Given the description of an element on the screen output the (x, y) to click on. 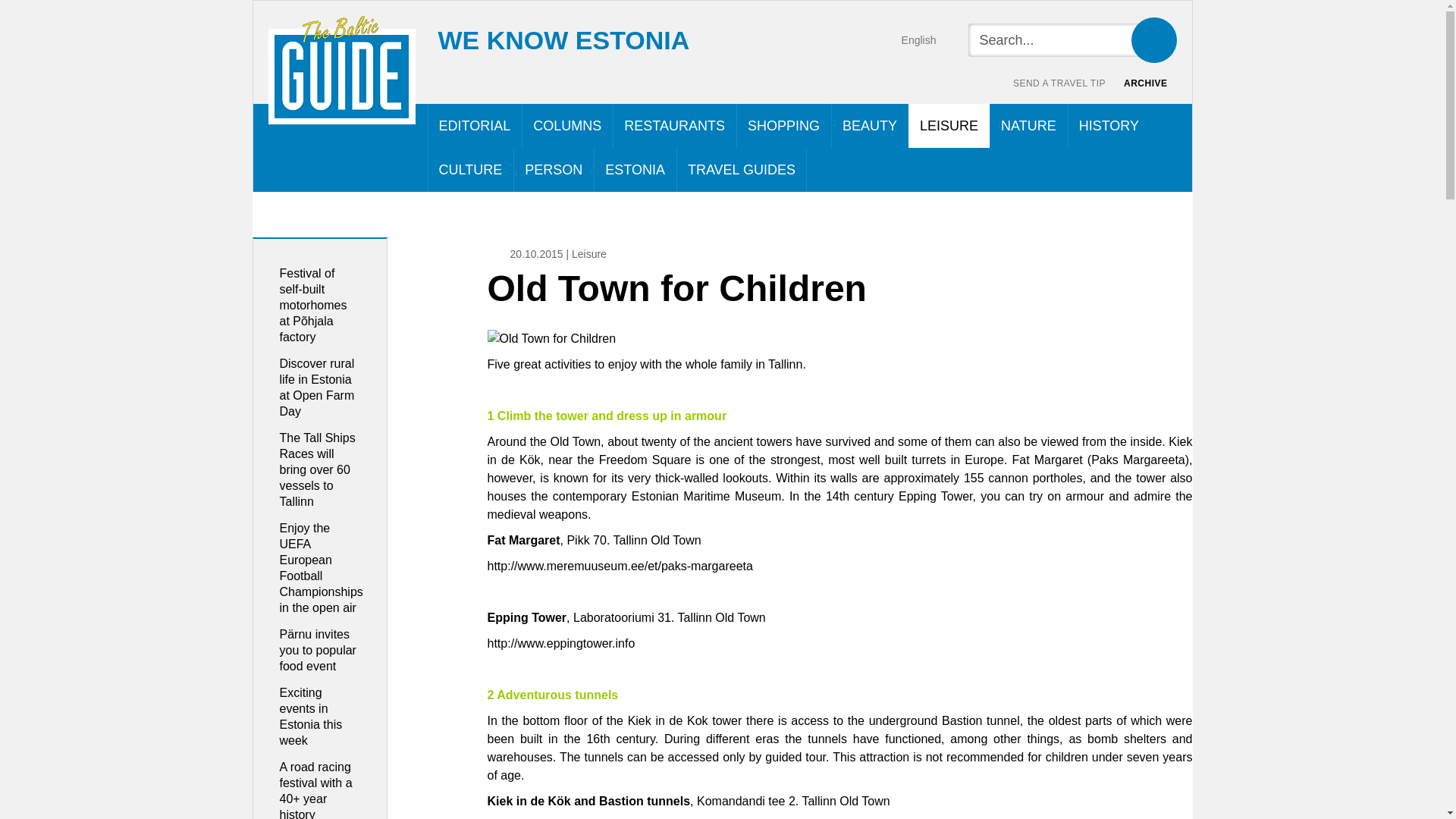
COLUMNS (566, 126)
The Tall Ships Races will bring over 60 vessels to Tallinn  (317, 469)
Search... (1060, 39)
TRAVEL GUIDES (741, 169)
EDITORIAL (475, 126)
English (903, 40)
RESTAURANTS (674, 126)
SHOPPING (783, 126)
CULTURE (470, 169)
LEISURE (949, 126)
Discover rural life in Estonia at Open Farm Day  (316, 387)
SEND A TRAVEL TIP (1059, 83)
BEAUTY (869, 126)
HISTORY (1108, 126)
NATURE (1028, 126)
